Given the description of an element on the screen output the (x, y) to click on. 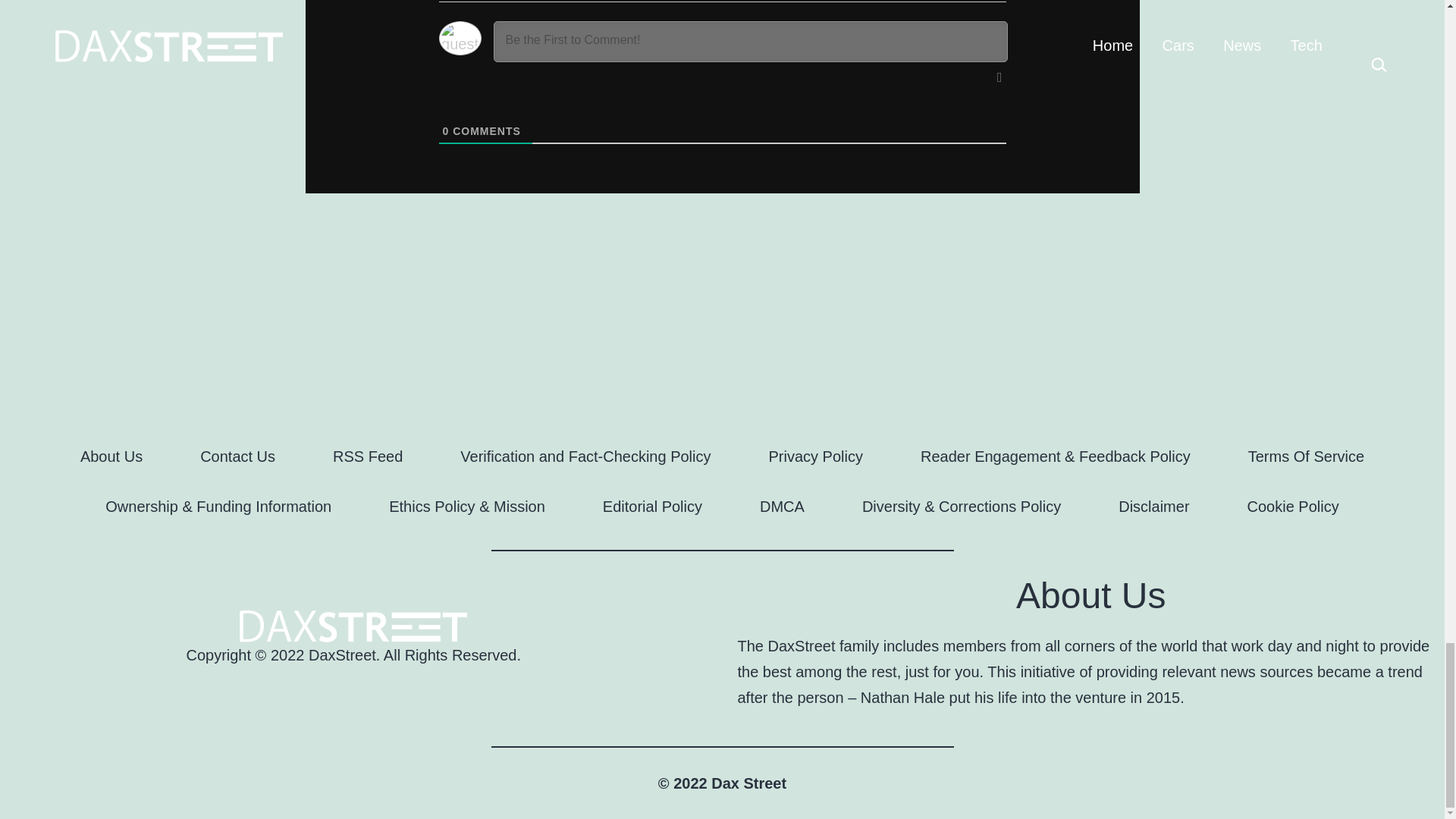
Verification and Fact-Checking Policy (585, 455)
About Us (111, 455)
Cookie Policy (1292, 506)
Contact Us (236, 455)
Disclaimer (1153, 506)
Editorial Policy (652, 506)
RSS Feed (367, 455)
Privacy Policy (815, 455)
Terms Of Service (1305, 455)
DMCA (781, 506)
